Given the description of an element on the screen output the (x, y) to click on. 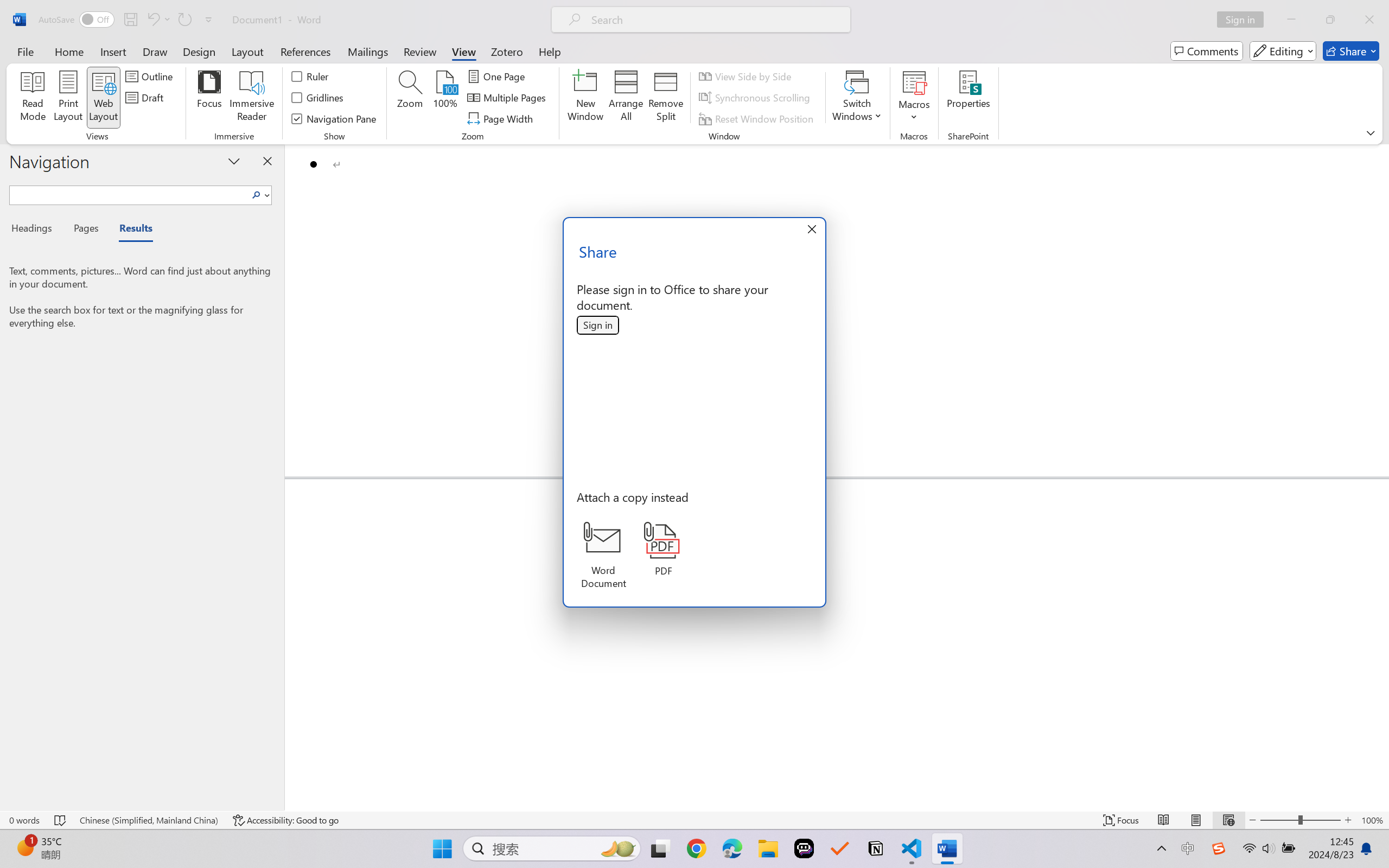
Pages (85, 229)
